Given the description of an element on the screen output the (x, y) to click on. 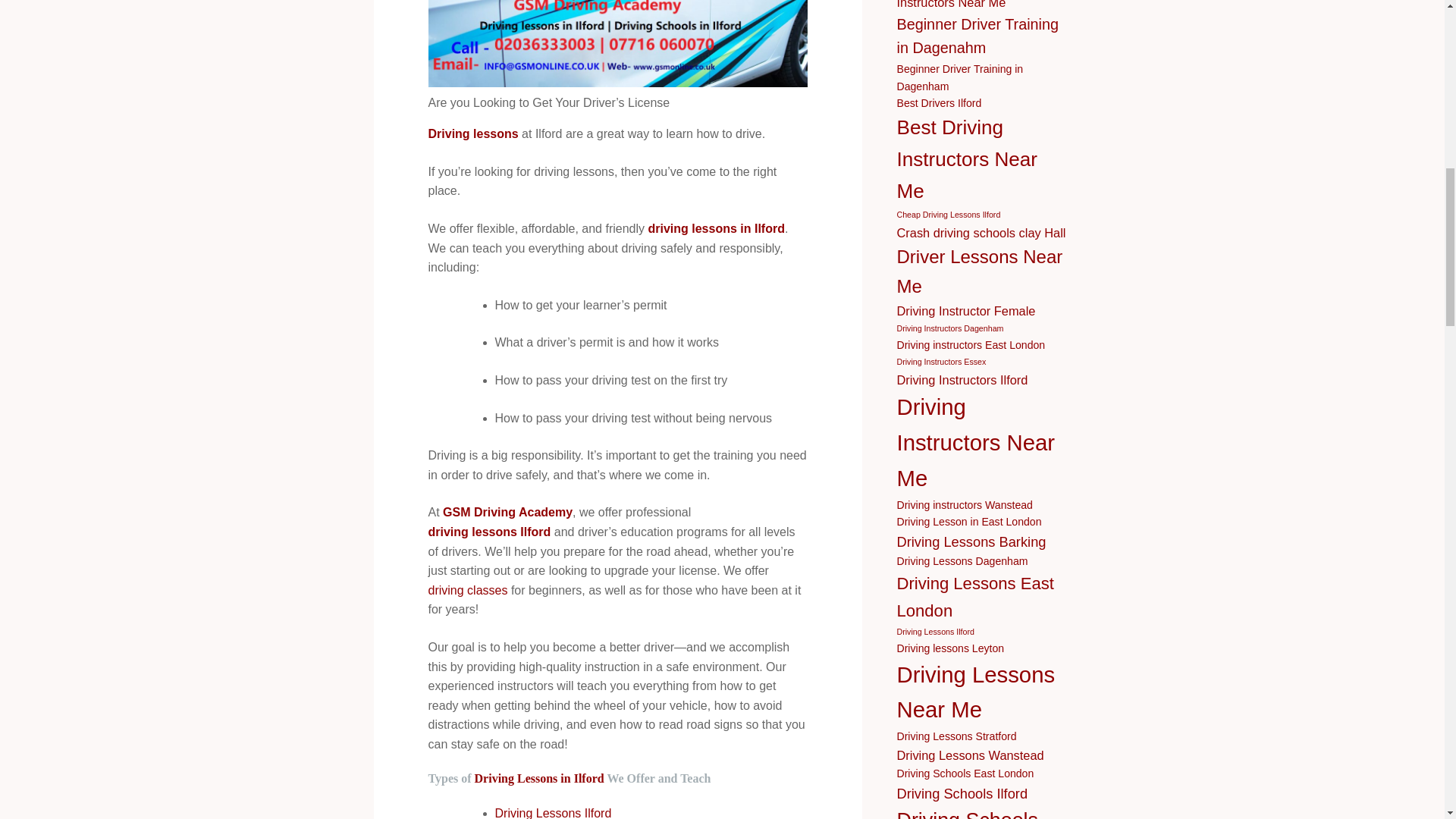
GSM Driving Academy (507, 512)
driving lessons in Ilford (715, 229)
Driving lessons (473, 134)
driving lessons Ilford (489, 532)
